Given the description of an element on the screen output the (x, y) to click on. 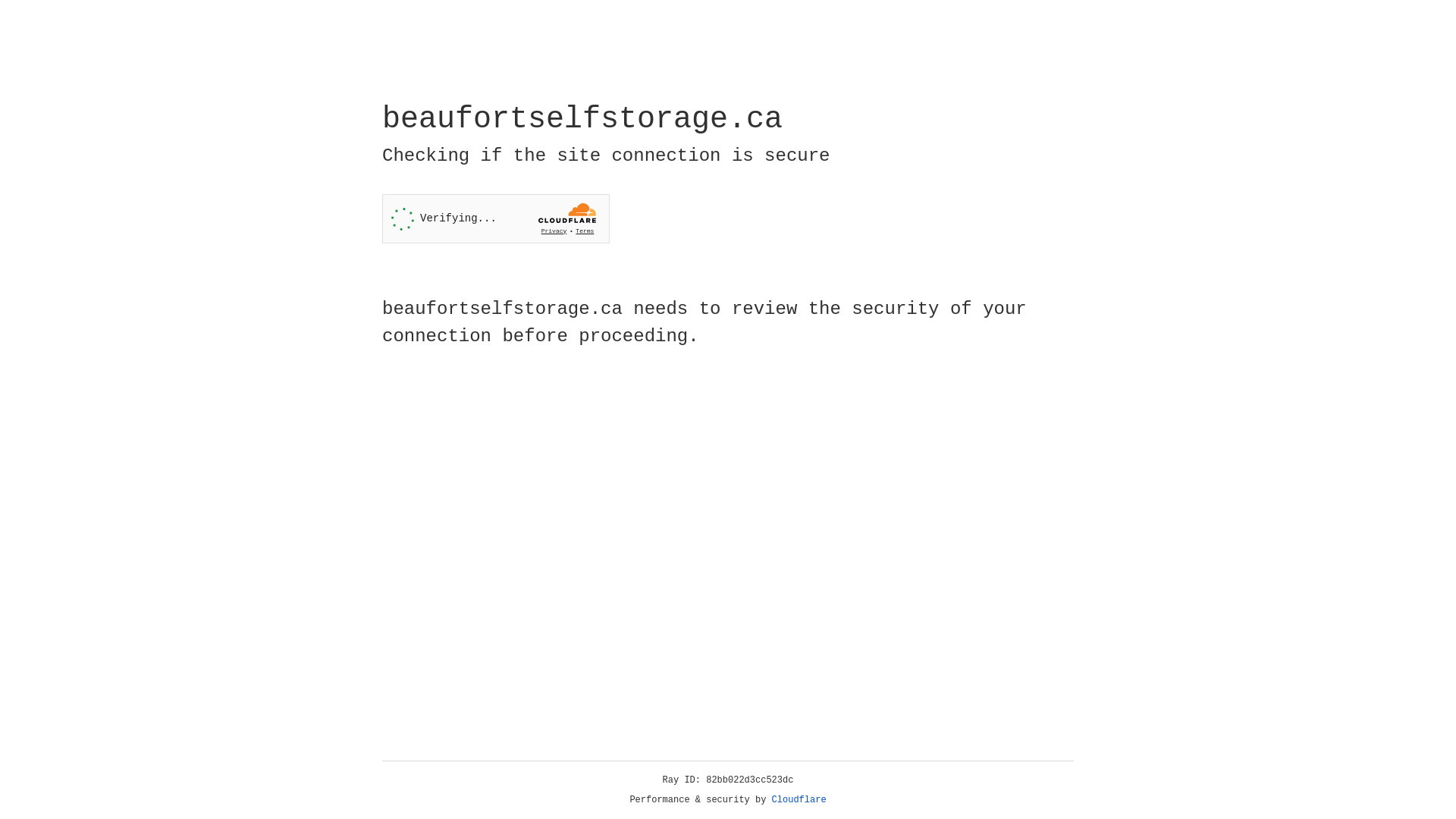
Widget containing a Cloudflare security challenge Element type: hover (495, 218)
Cloudflare Element type: text (798, 799)
